Given the description of an element on the screen output the (x, y) to click on. 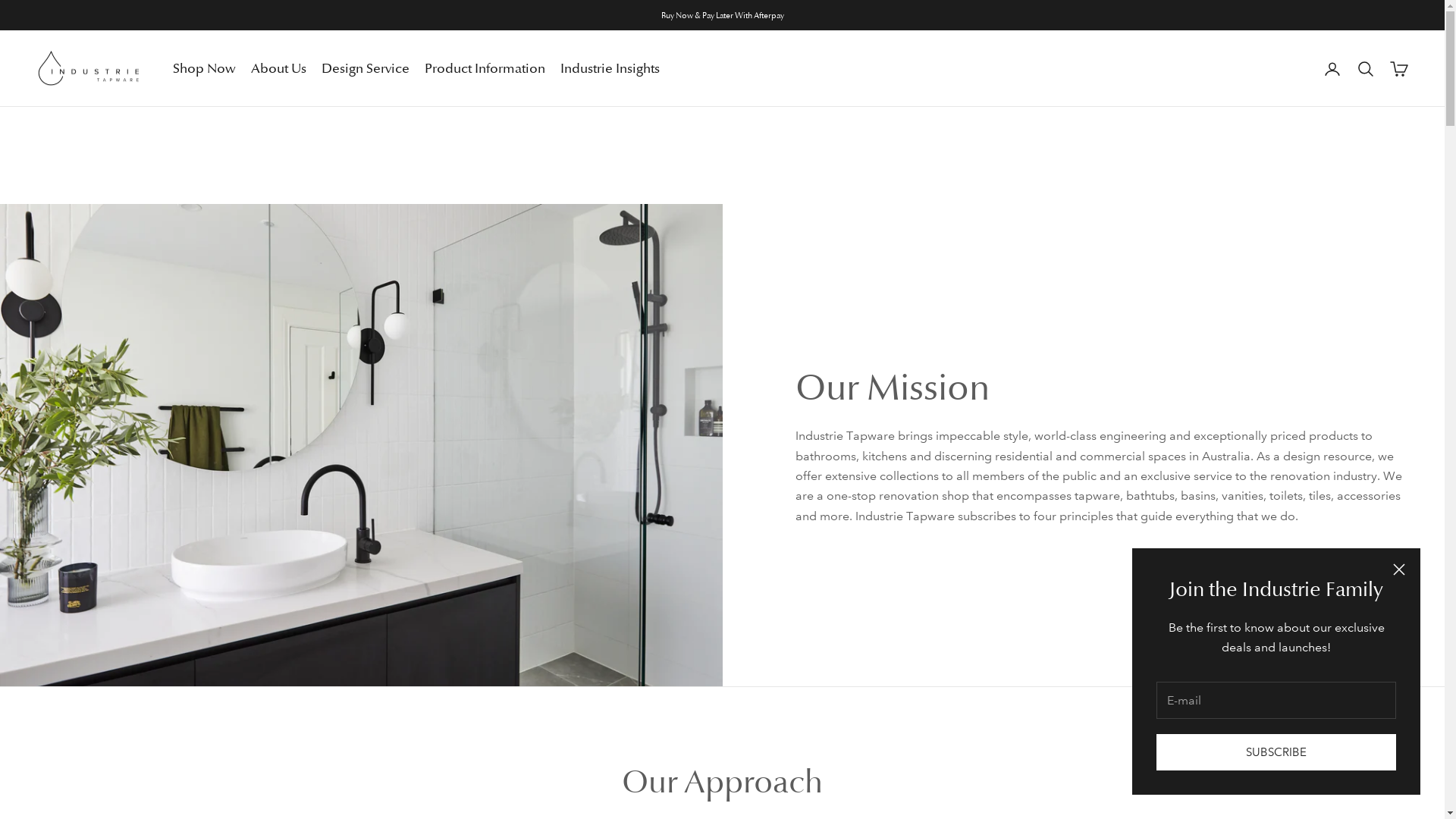
INDUSTRIE TAPWARE Element type: text (89, 68)
Open cart Element type: text (1399, 68)
Industrie Insights Element type: text (609, 68)
Open search Element type: text (1365, 68)
SUBSCRIBE Element type: text (1276, 752)
Open account page Element type: text (1332, 68)
Design Service Element type: text (365, 68)
Close Element type: text (1399, 569)
